Given the description of an element on the screen output the (x, y) to click on. 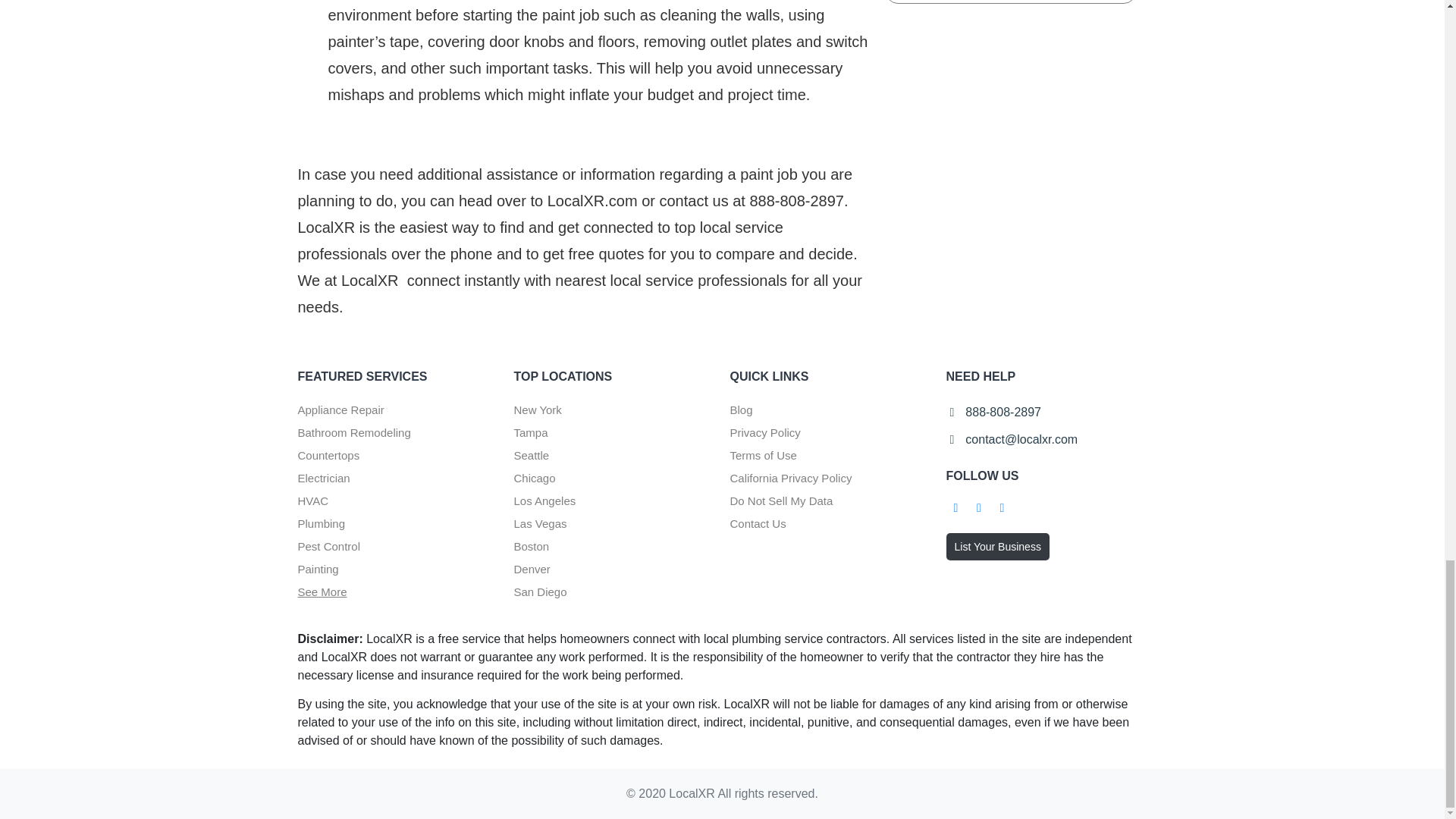
HVAC (313, 500)
Privacy Policy (764, 431)
New York (537, 409)
Appliance Repair (340, 409)
Terms of Use (762, 454)
Pest Control (328, 545)
Do Not Sell My Data (780, 500)
List Your Business (997, 546)
Los Angeles (544, 500)
Blog (740, 409)
Chicago (534, 477)
San Diego (540, 591)
888-808-2897 (994, 411)
Las Vegas (540, 522)
Countertops (328, 454)
